Given the description of an element on the screen output the (x, y) to click on. 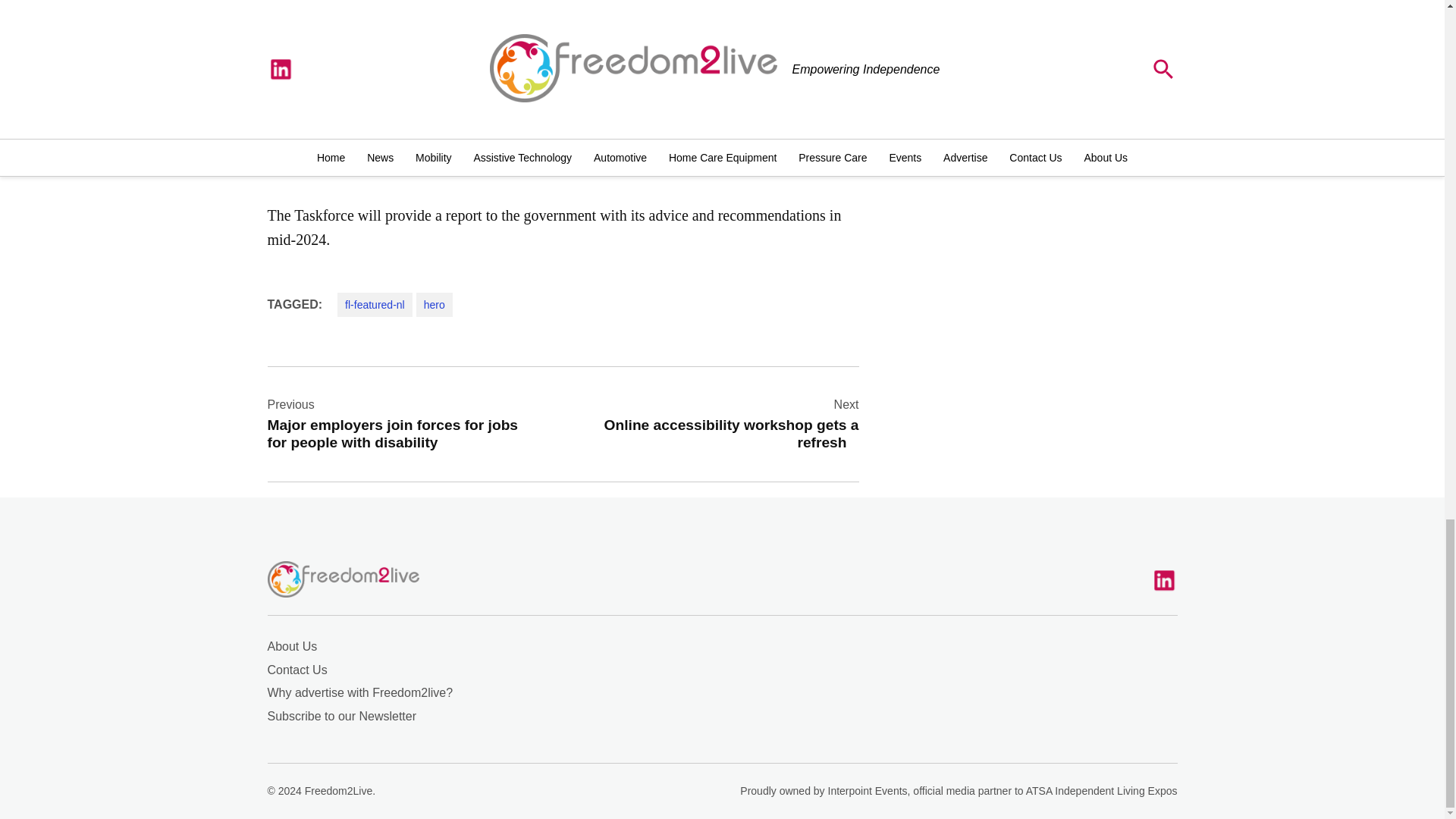
hero (725, 423)
fl-featured-nl (434, 304)
